Given the description of an element on the screen output the (x, y) to click on. 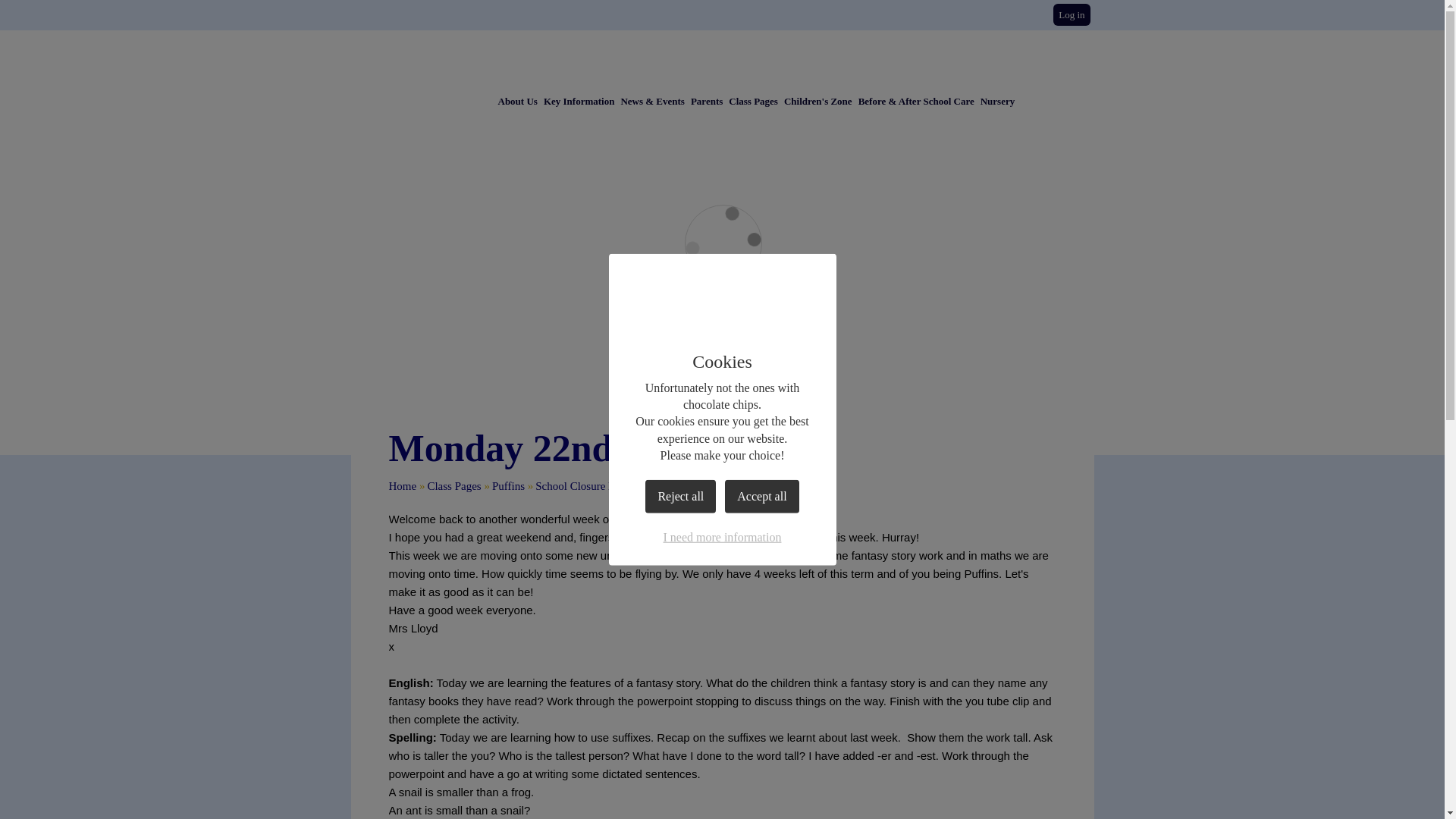
Key Information (578, 100)
Puffins (508, 485)
Class Pages (453, 485)
Home (402, 485)
Log in (1070, 14)
Home Page (779, 58)
About Us (517, 100)
School Closure Learning (592, 485)
Monday 22nd June 2020 (716, 485)
Home Page (779, 58)
